Given the description of an element on the screen output the (x, y) to click on. 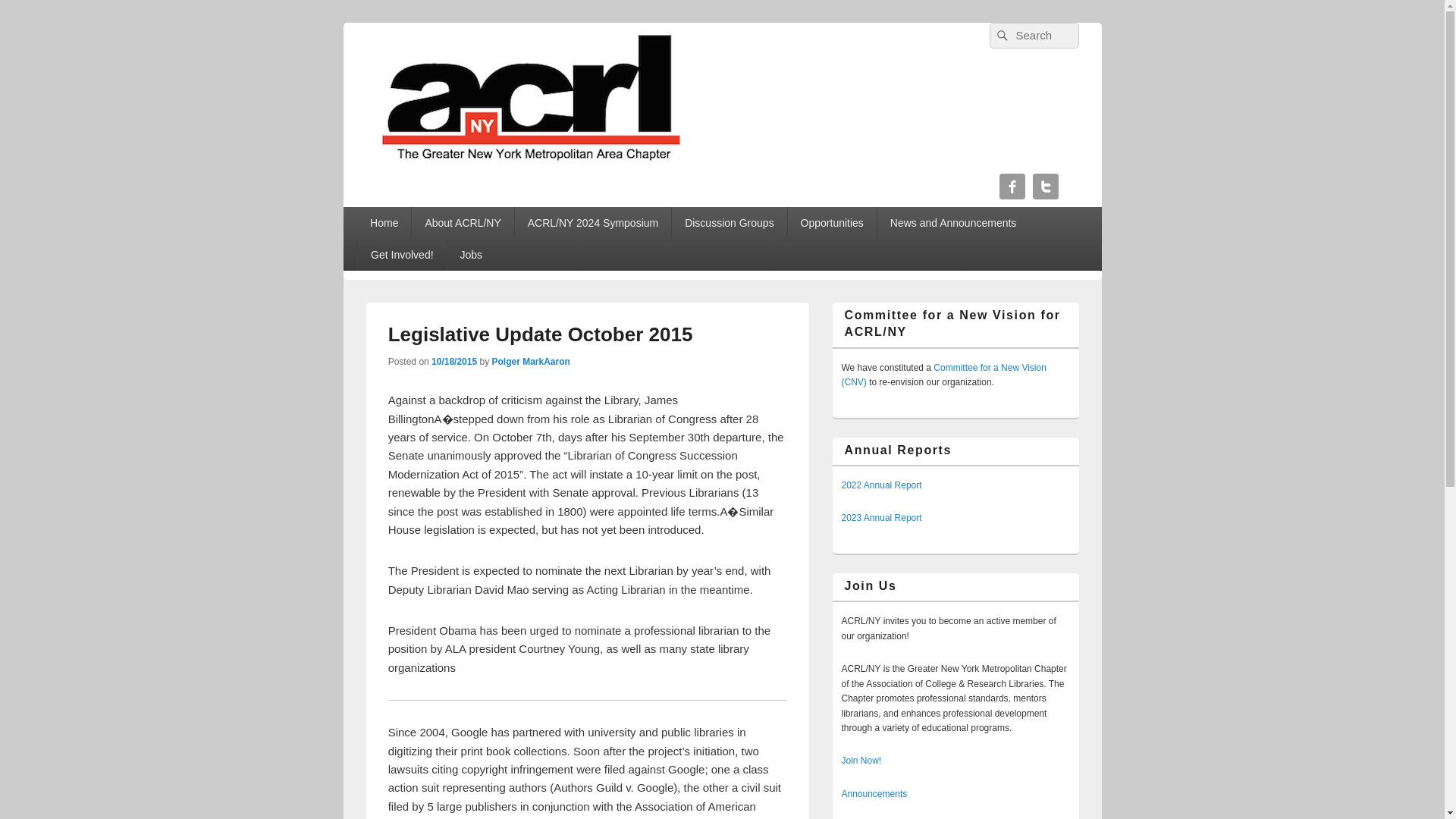
Discussion Groups (728, 223)
Home (383, 223)
View all posts by Polger MarkAaron (530, 361)
Search for: (1033, 35)
Twitter (1045, 186)
3:08 am (453, 361)
Facebook (1011, 186)
News and Announcements (953, 223)
Twitter (1045, 186)
